Given the description of an element on the screen output the (x, y) to click on. 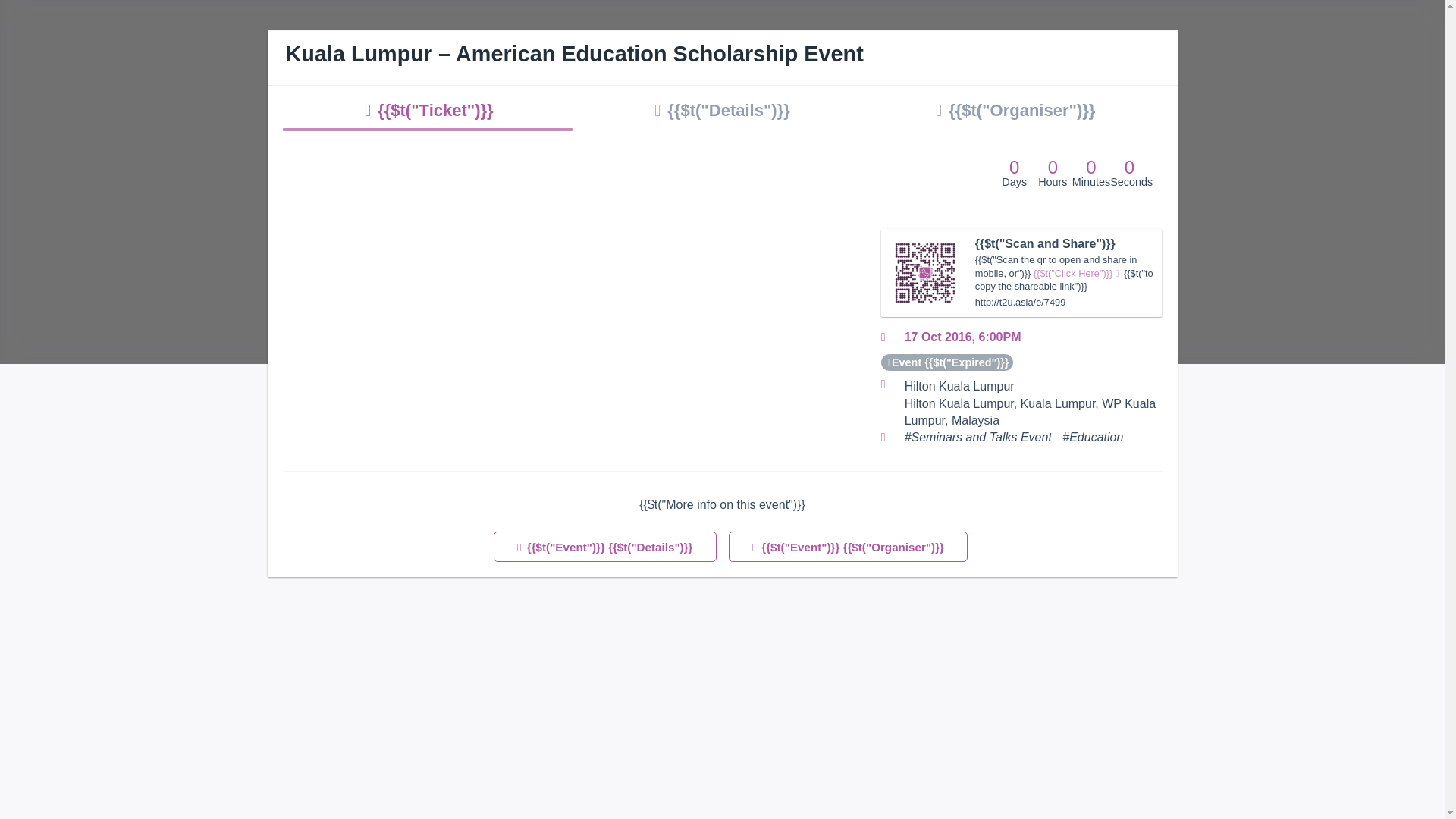
Details (722, 110)
Ticket (428, 110)
Organiser (1015, 110)
